Given the description of an element on the screen output the (x, y) to click on. 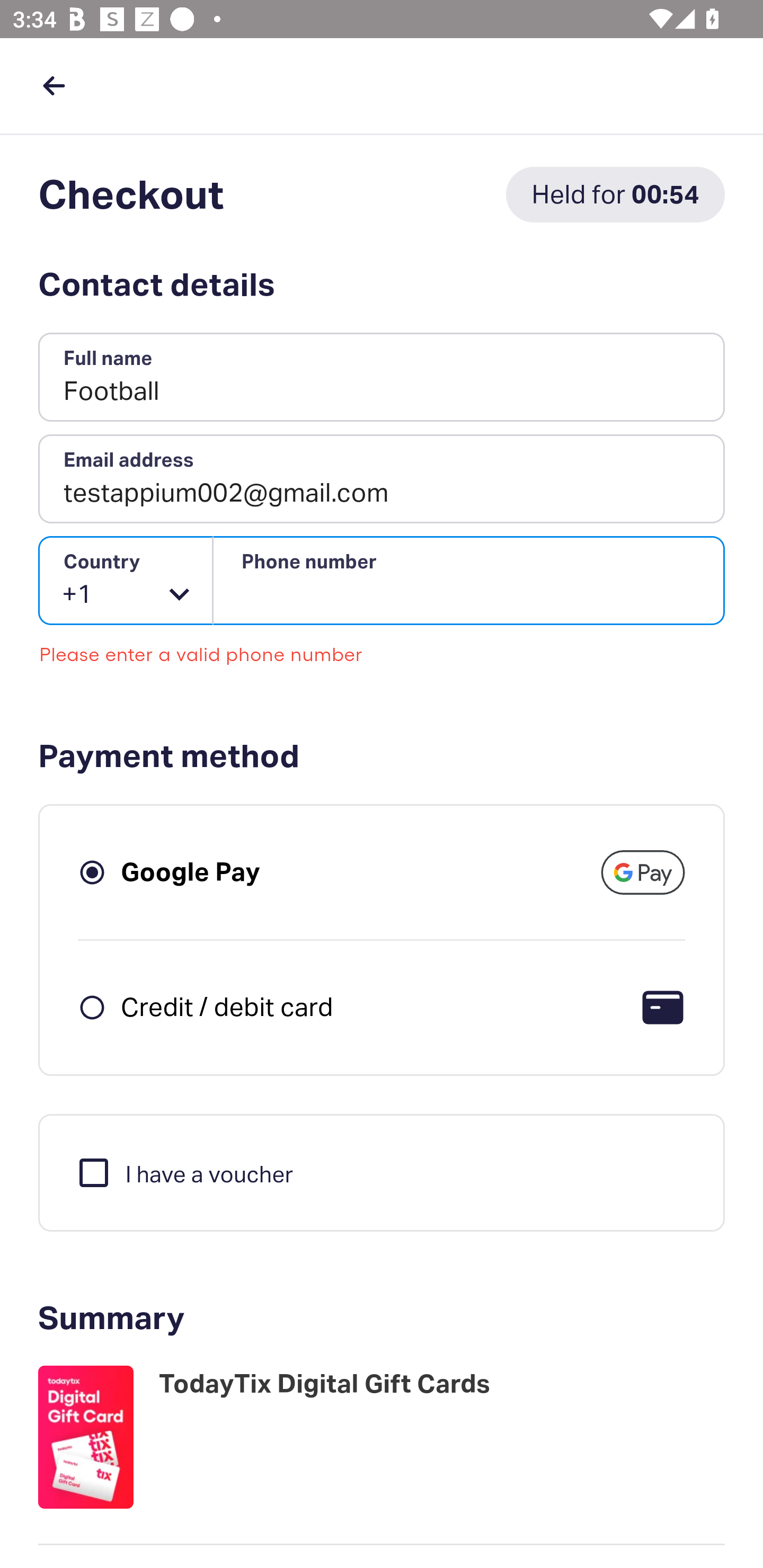
back button (53, 85)
Football (381, 377)
testappium002@gmail.com (381, 478)
  +1 (126, 580)
Google Pay (190, 871)
Credit / debit card (227, 1006)
I have a voucher (183, 1171)
